Given the description of an element on the screen output the (x, y) to click on. 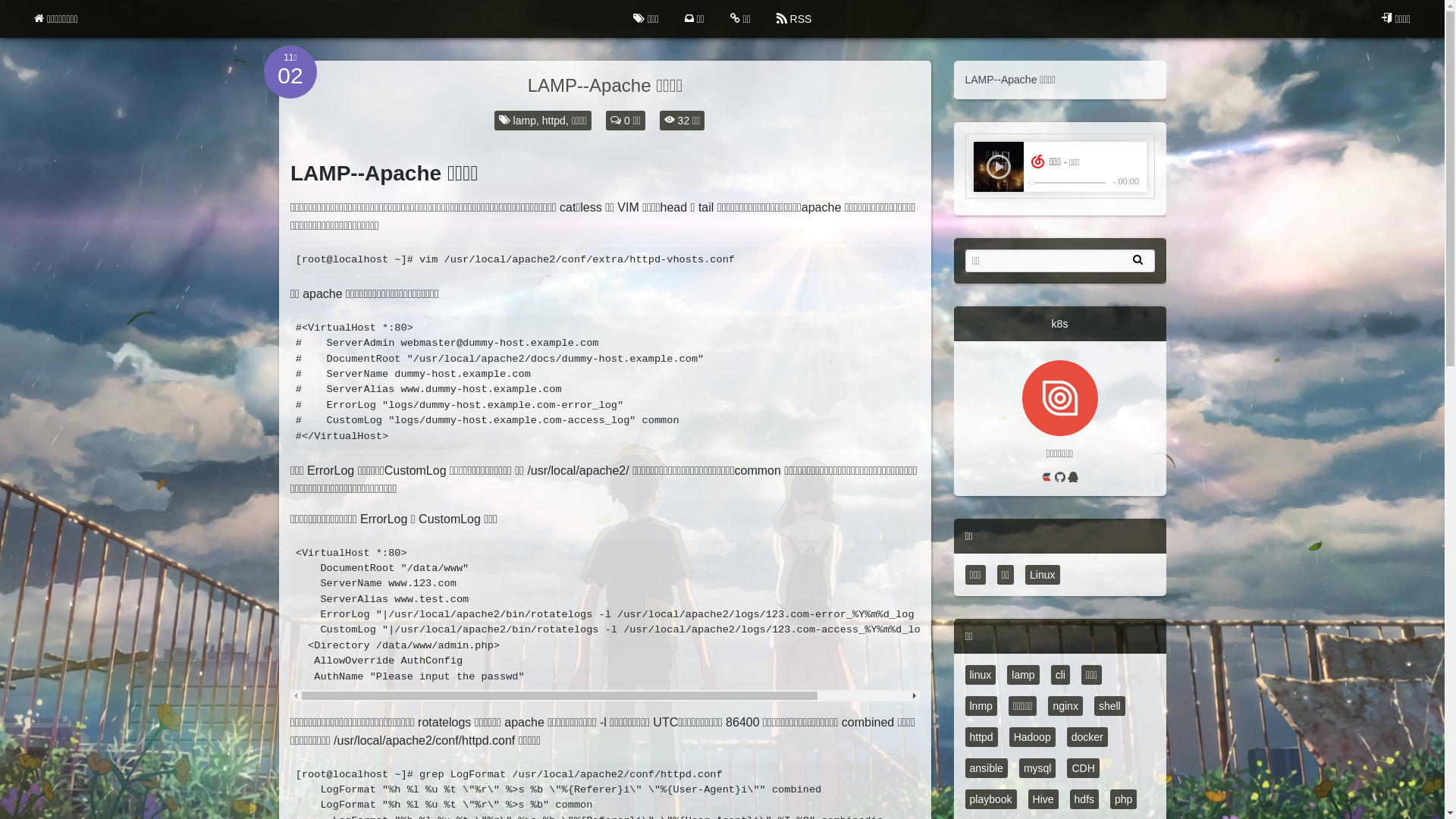
docker Element type: text (1086, 736)
cli Element type: text (1060, 674)
Hive Element type: text (1043, 799)
lamp Element type: text (523, 120)
RSS Element type: text (794, 18)
nginx Element type: text (1065, 705)
httpd Element type: text (552, 120)
playbook Element type: text (990, 799)
hdfs Element type: text (1084, 799)
https://ld246.com/member/k8s Element type: hover (1047, 478)
ansible Element type: text (985, 768)
https://github.com/TOT-JIN Element type: hover (1060, 478)
php Element type: text (1123, 799)
CDH Element type: text (1082, 768)
lamp Element type: text (1022, 674)
Hadoop Element type: text (1032, 736)
mysql Element type: text (1037, 768)
1014887978 Element type: hover (1072, 478)
lnmp Element type: text (980, 705)
httpd Element type: text (980, 736)
linux Element type: text (979, 674)
Linux Element type: text (1042, 574)
shell Element type: text (1109, 705)
